Given the description of an element on the screen output the (x, y) to click on. 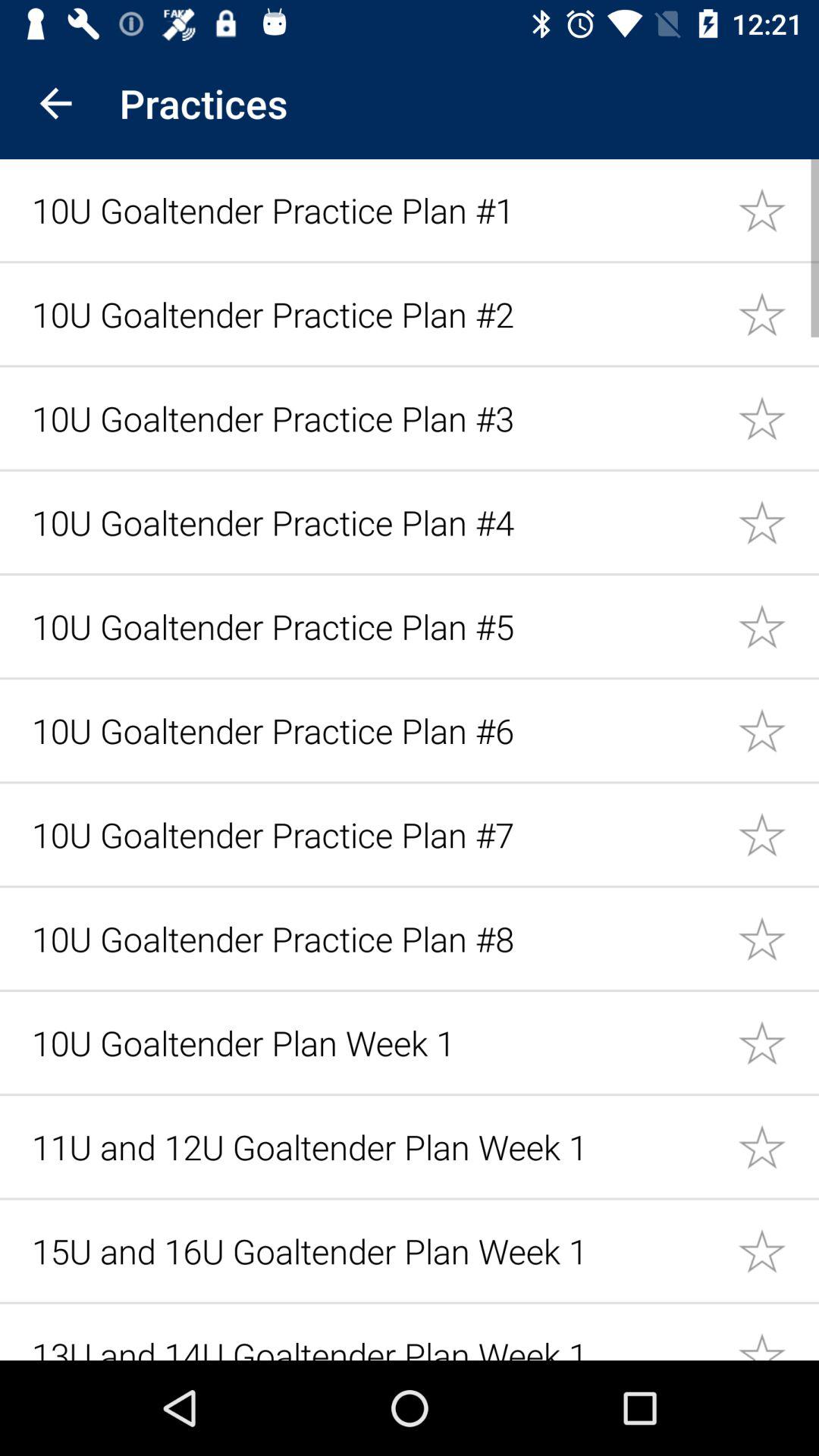
tap item above 10u goaltender practice item (55, 103)
